Given the description of an element on the screen output the (x, y) to click on. 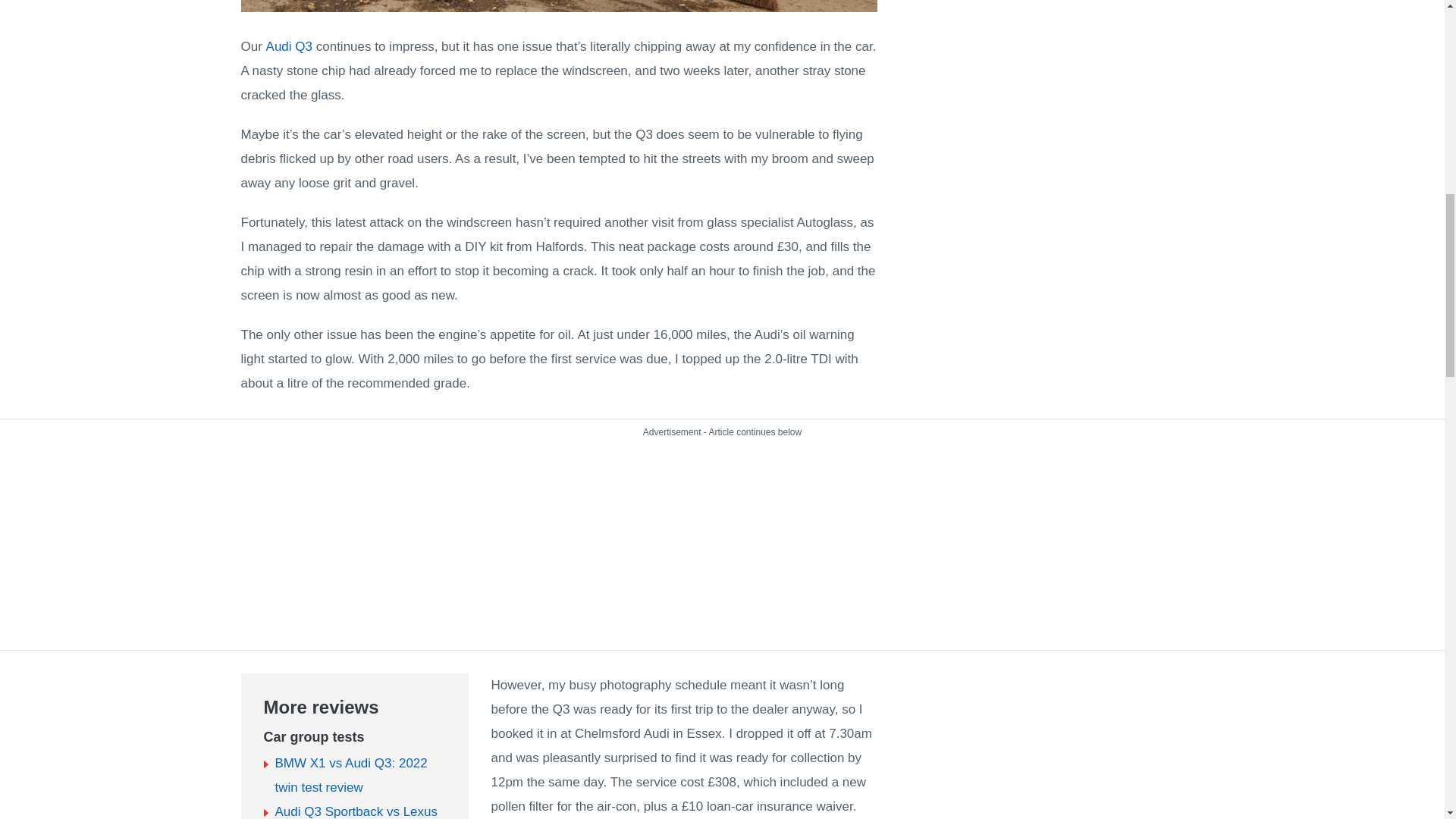
Audi Q3 Sportback vs Lexus UX (356, 811)
Audi Q3 (289, 46)
6 (559, 6)
BMW X1 vs Audi Q3: 2022 twin test review (350, 774)
